Given the description of an element on the screen output the (x, y) to click on. 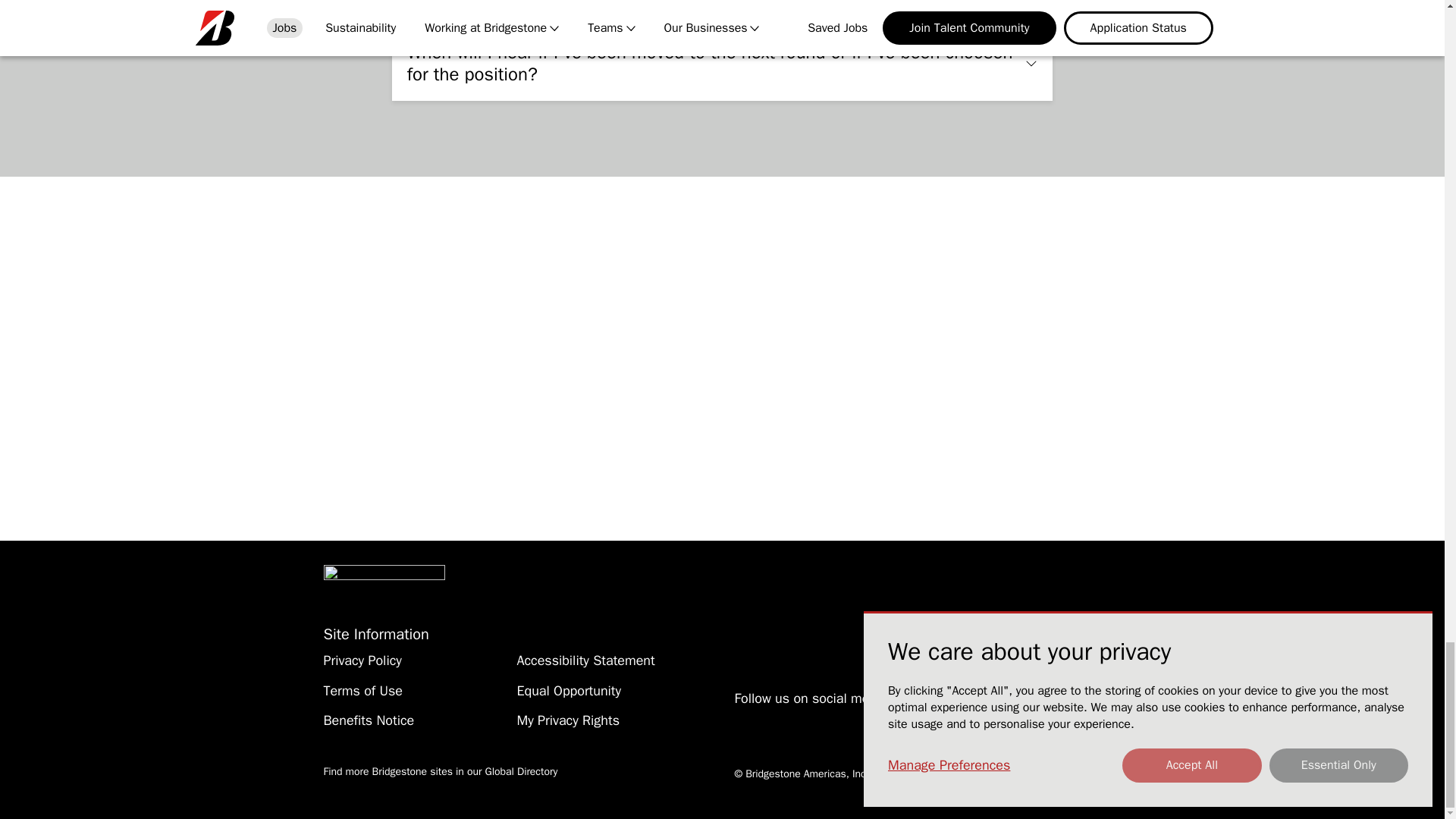
TikTok (925, 721)
Instagram (864, 721)
Glassdoor (895, 721)
Facebook (741, 721)
YouTube (834, 721)
Twitter (772, 721)
LinkedIn (802, 721)
